Given the description of an element on the screen output the (x, y) to click on. 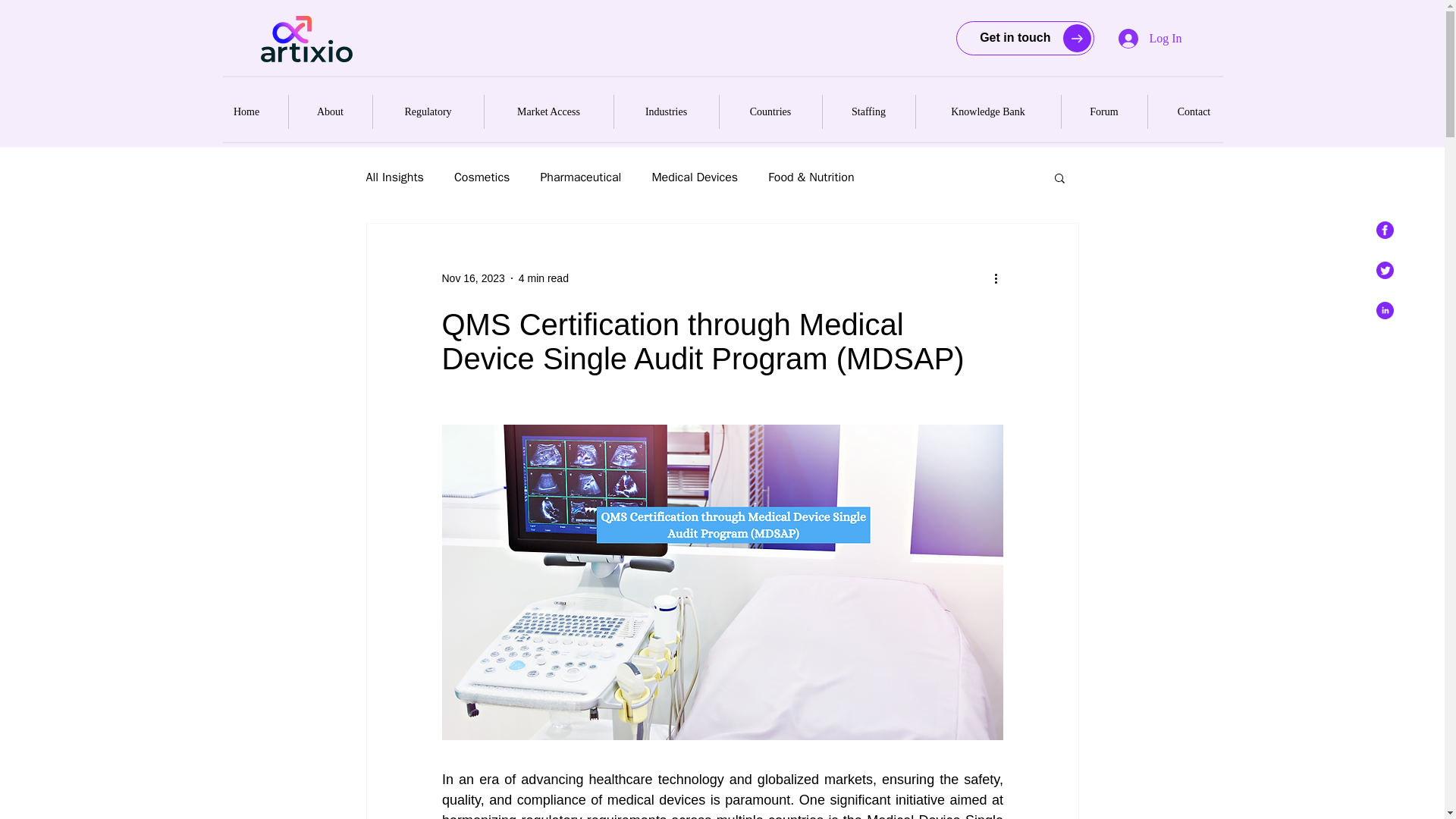
4 min read (543, 277)
Home (245, 111)
Countries (770, 111)
Nov 16, 2023 (472, 277)
Get in touch (1024, 38)
About (329, 111)
Log In (1150, 38)
